Given the description of an element on the screen output the (x, y) to click on. 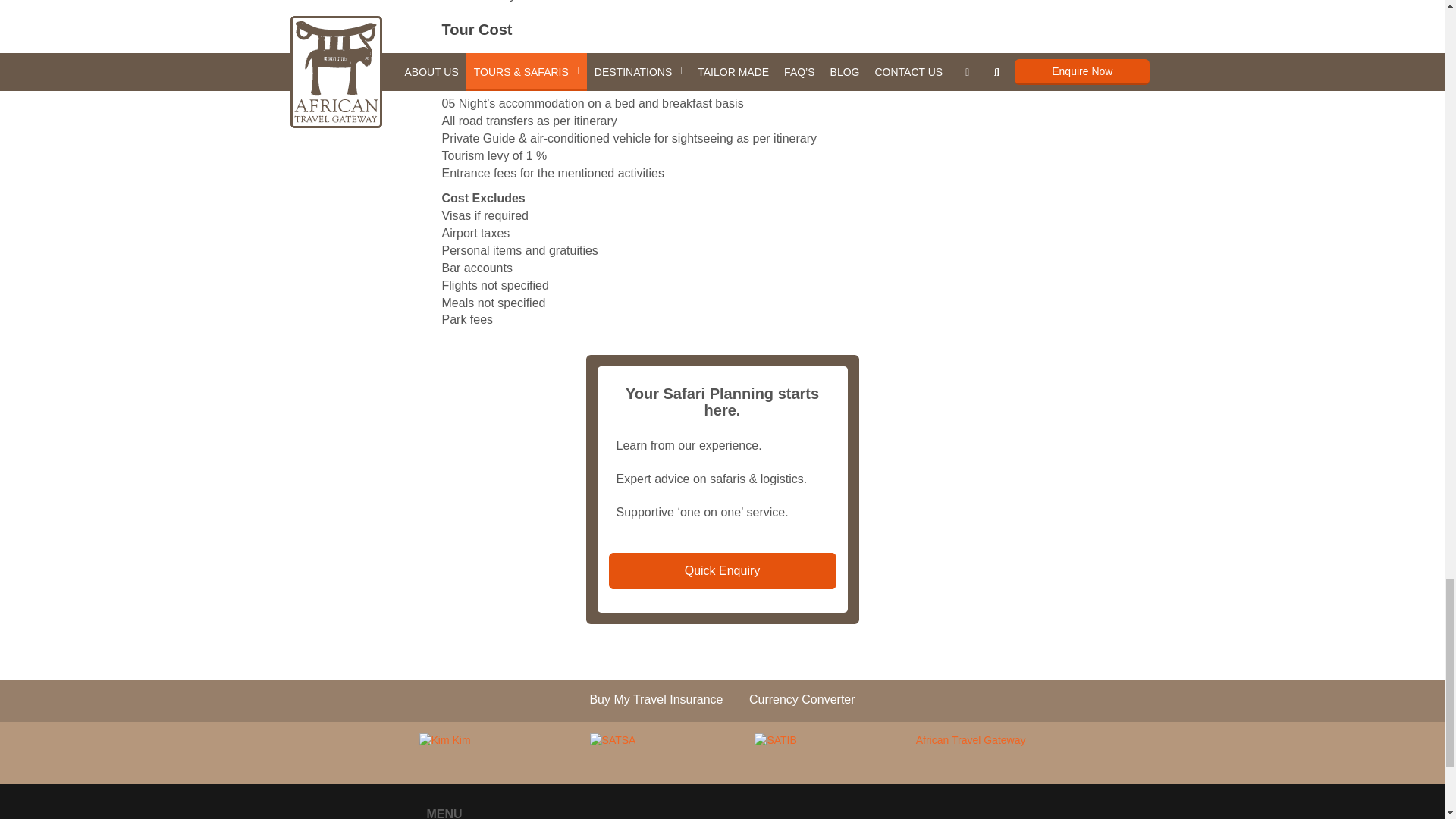
Buy My Travel Insurance (655, 700)
Quick Enquiry (721, 570)
Currency Converter (802, 700)
